Given the description of an element on the screen output the (x, y) to click on. 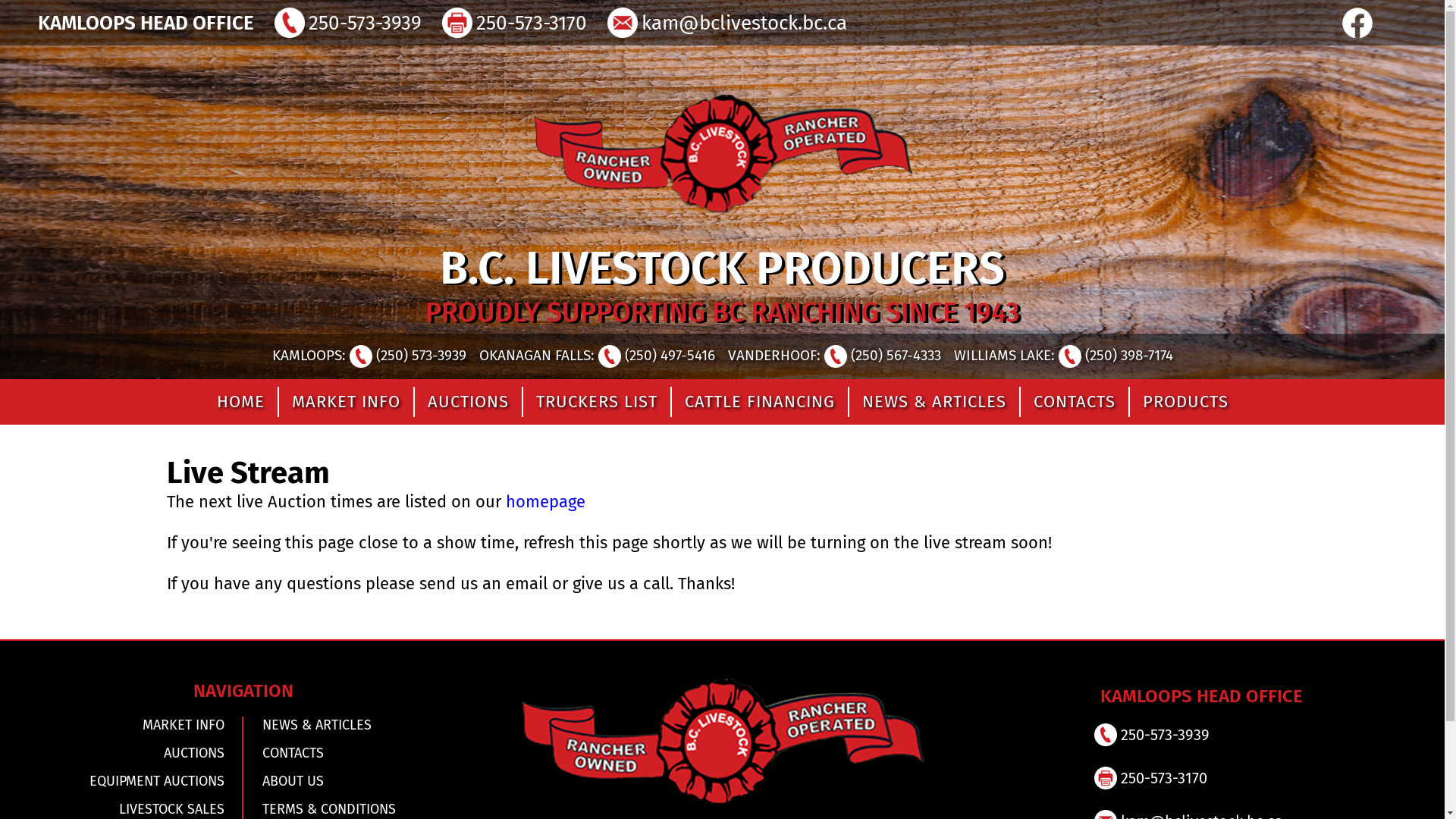
250-573-3939 Element type: text (362, 22)
TERMS & CONDITIONS Element type: text (355, 808)
250-573-3939 Element type: text (1163, 734)
AUCTIONS Element type: text (130, 752)
PRODUCTS Element type: text (1184, 401)
CONTACTS Element type: text (355, 752)
CONTACTS Element type: text (1073, 401)
EQUIPMENT AUCTIONS Element type: text (130, 780)
250-573-3170 Element type: text (529, 22)
LIVESTOCK SALES Element type: text (130, 808)
(250) 573-3939 Element type: text (406, 355)
CATTLE FINANCING Element type: text (758, 401)
(250) 497-5416 Element type: text (655, 355)
HOME Element type: text (239, 401)
NEWS & ARTICLES Element type: text (355, 724)
(250) 567-4333 Element type: text (881, 355)
ABOUT US Element type: text (355, 780)
250-573-3170 Element type: text (1162, 777)
kam@bclivestock.bc.ca Element type: text (742, 22)
MARKET INFO Element type: text (130, 724)
NEWS & ARTICLES Element type: text (933, 401)
homepage Element type: text (545, 501)
TRUCKERS LIST Element type: text (595, 401)
(250) 398-7174 Element type: text (1115, 355)
MARKET INFO Element type: text (345, 401)
